Given the description of an element on the screen output the (x, y) to click on. 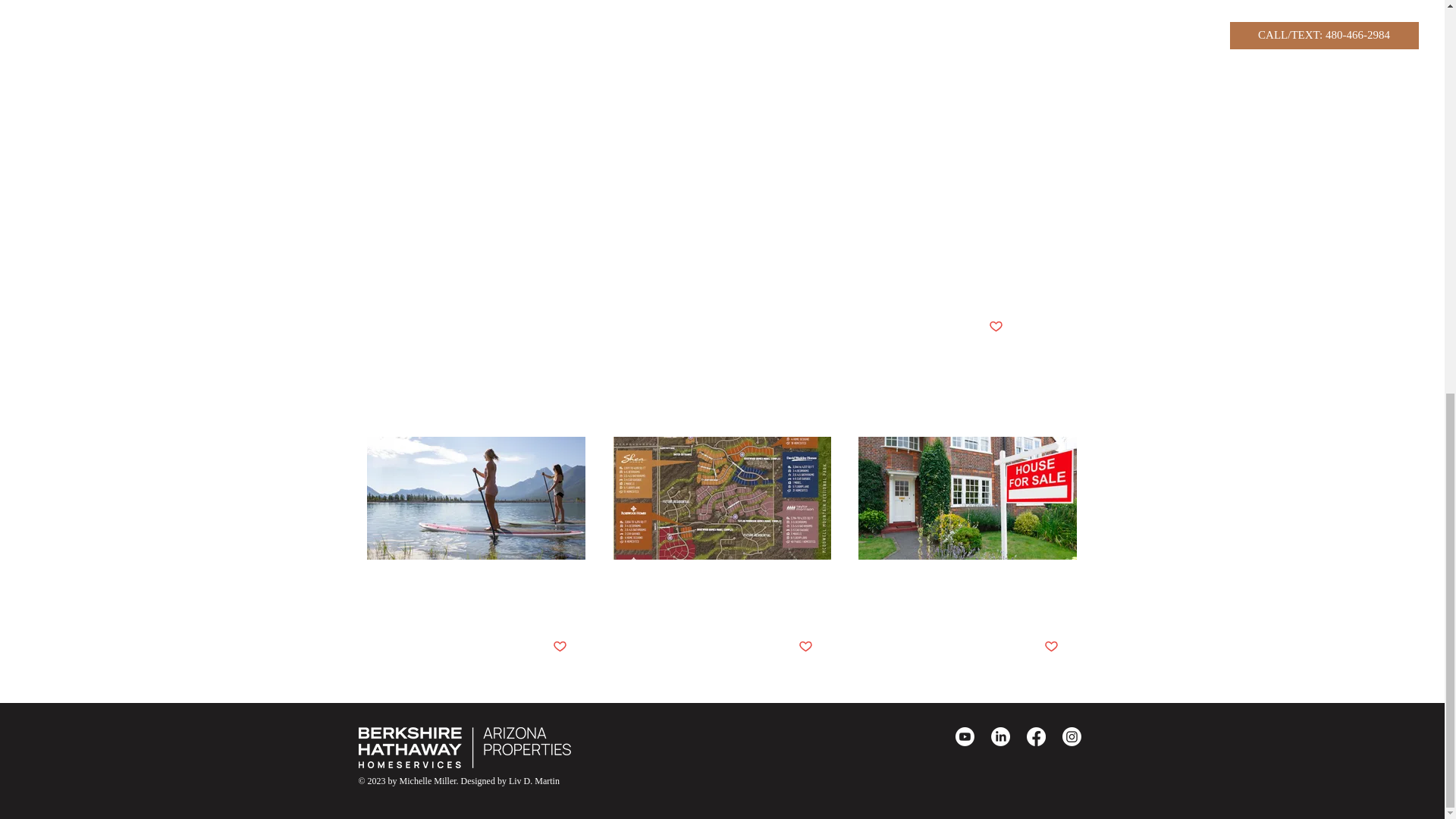
0 (931, 646)
Surviving Arizona Summers (476, 585)
0 (435, 646)
Post not marked as liked (558, 647)
5 Things Sellers Do That Buyers Hate (967, 593)
Post not marked as liked (995, 326)
Post not marked as liked (804, 647)
Storyrock, Scottsdale AZ (721, 585)
Post not marked as liked (1050, 647)
See All (1061, 409)
0 (681, 646)
